Given the description of an element on the screen output the (x, y) to click on. 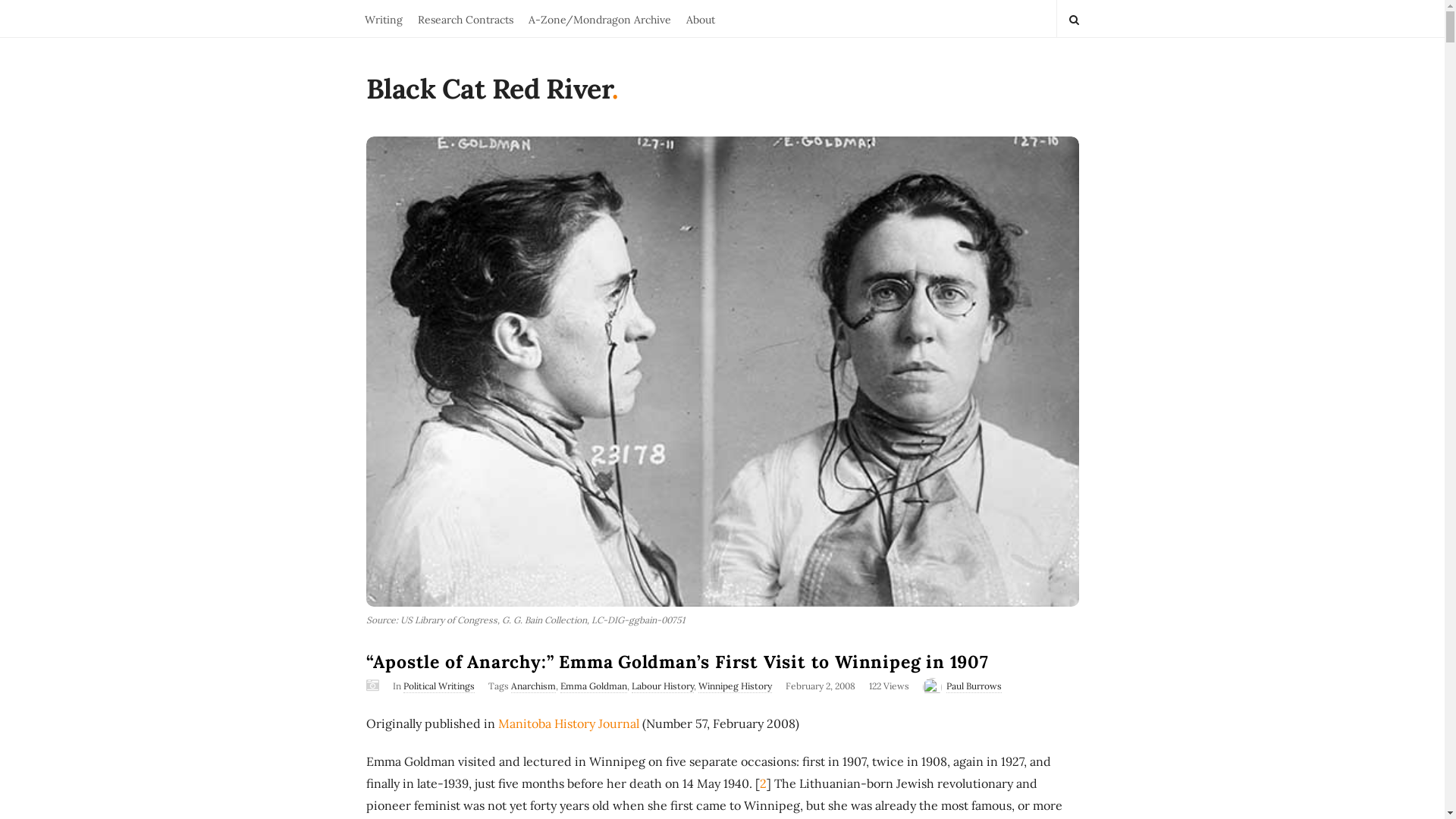
About Element type: text (699, 18)
Winnipeg History Element type: text (734, 686)
Research Contracts Element type: text (464, 18)
Manitoba History Journal Element type: text (567, 723)
Anarchism Element type: text (533, 686)
Paul Burrows Element type: text (973, 686)
Writing Element type: text (382, 18)
Black Cat Red River Element type: text (488, 92)
Political Writings Element type: text (438, 686)
A-Zone/Mondragon Archive Element type: text (598, 18)
Emma Goldman Element type: text (592, 686)
Labour History Element type: text (661, 686)
2 Element type: text (762, 782)
